Given the description of an element on the screen output the (x, y) to click on. 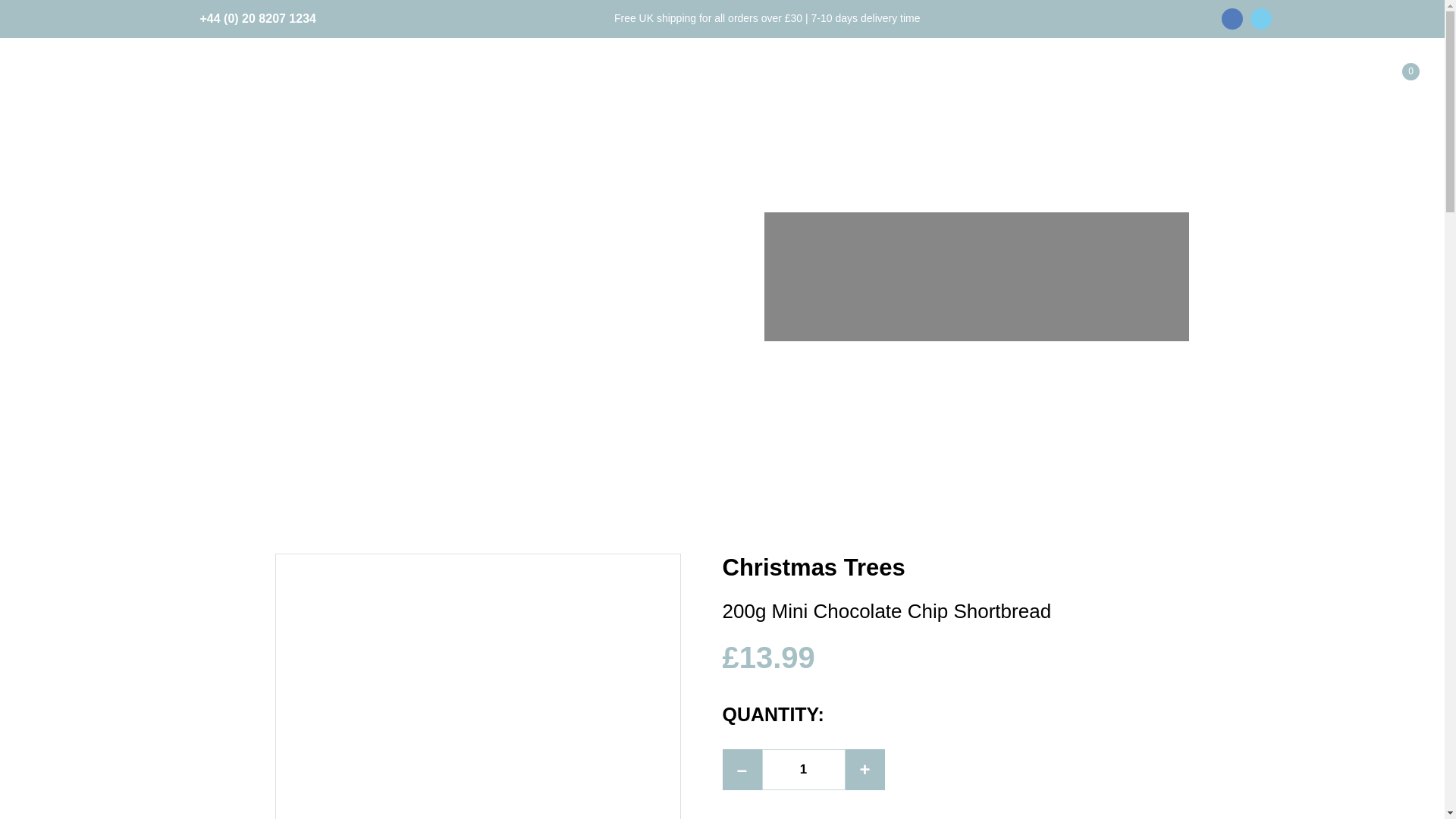
BROCHURE (1059, 82)
MY ACCOUNT (866, 82)
CONTACT (1227, 82)
CART (773, 82)
Qty (802, 769)
ABOUT (967, 82)
0 (1396, 81)
SHOP (708, 82)
BLOG (1147, 82)
HOME (642, 82)
1 (802, 769)
Search (1372, 130)
